Given the description of an element on the screen output the (x, y) to click on. 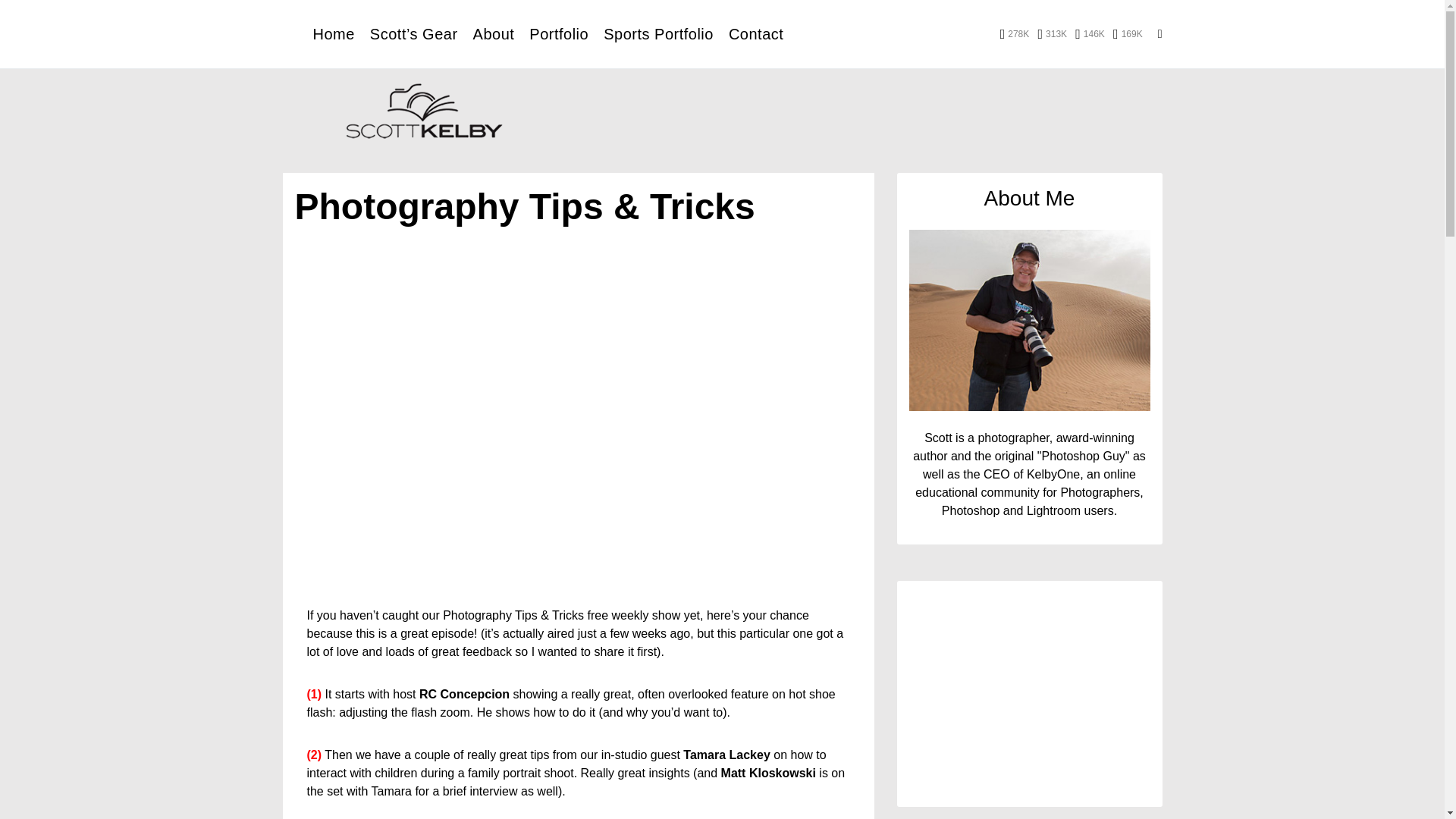
3rd party ad content (1028, 699)
169K (1127, 33)
Sports Portfolio (658, 33)
3rd party ad content (878, 114)
313K (1051, 33)
278K (1014, 33)
146K (1090, 33)
